Given the description of an element on the screen output the (x, y) to click on. 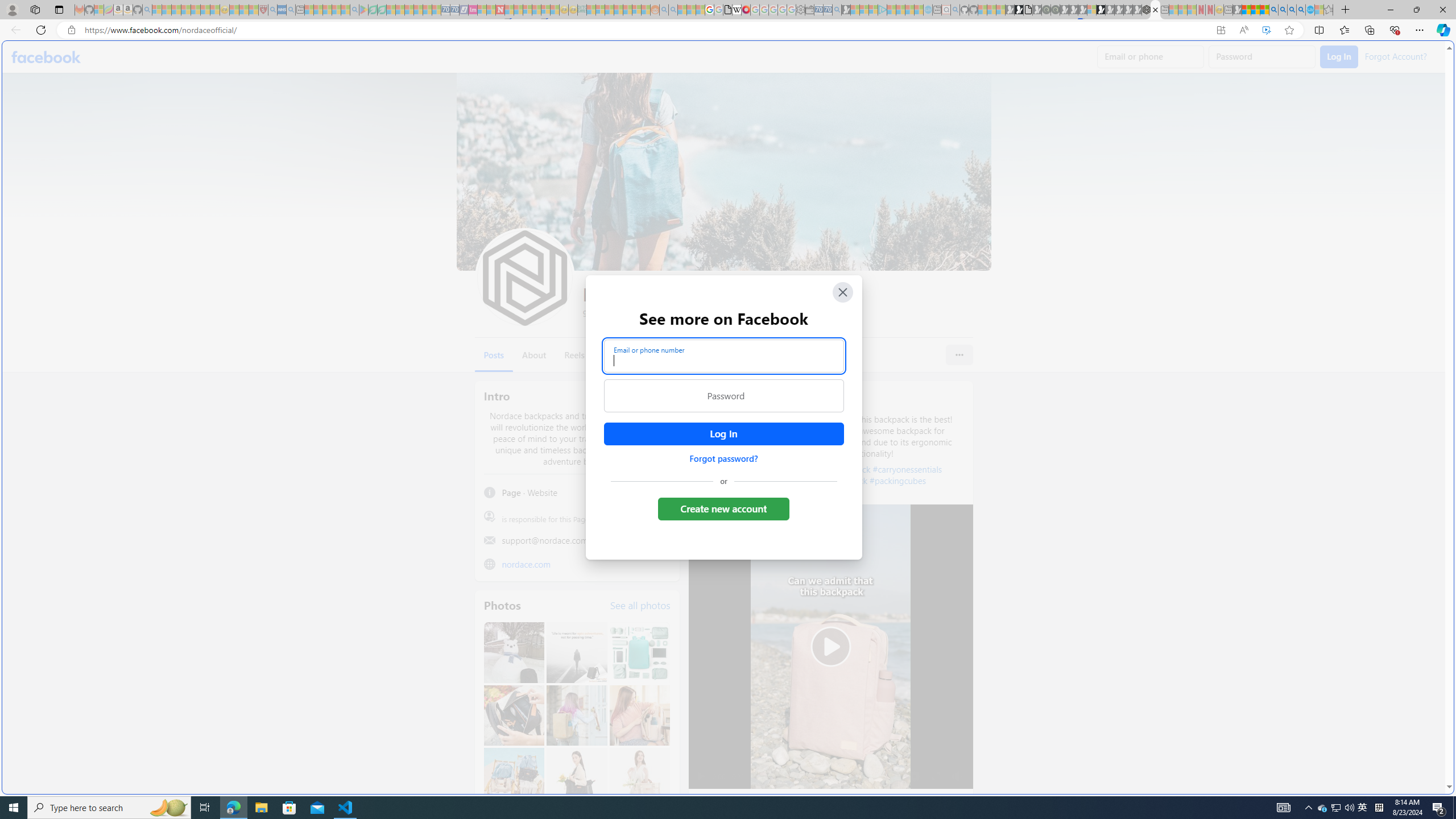
Email or phone (1150, 56)
google_privacy_policy_zh-CN.pdf (1118, 683)
Jobs - lastminute.com Investor Portal - Sleeping (472, 9)
Nordace - Cooler Bags (1146, 9)
